Given the description of an element on the screen output the (x, y) to click on. 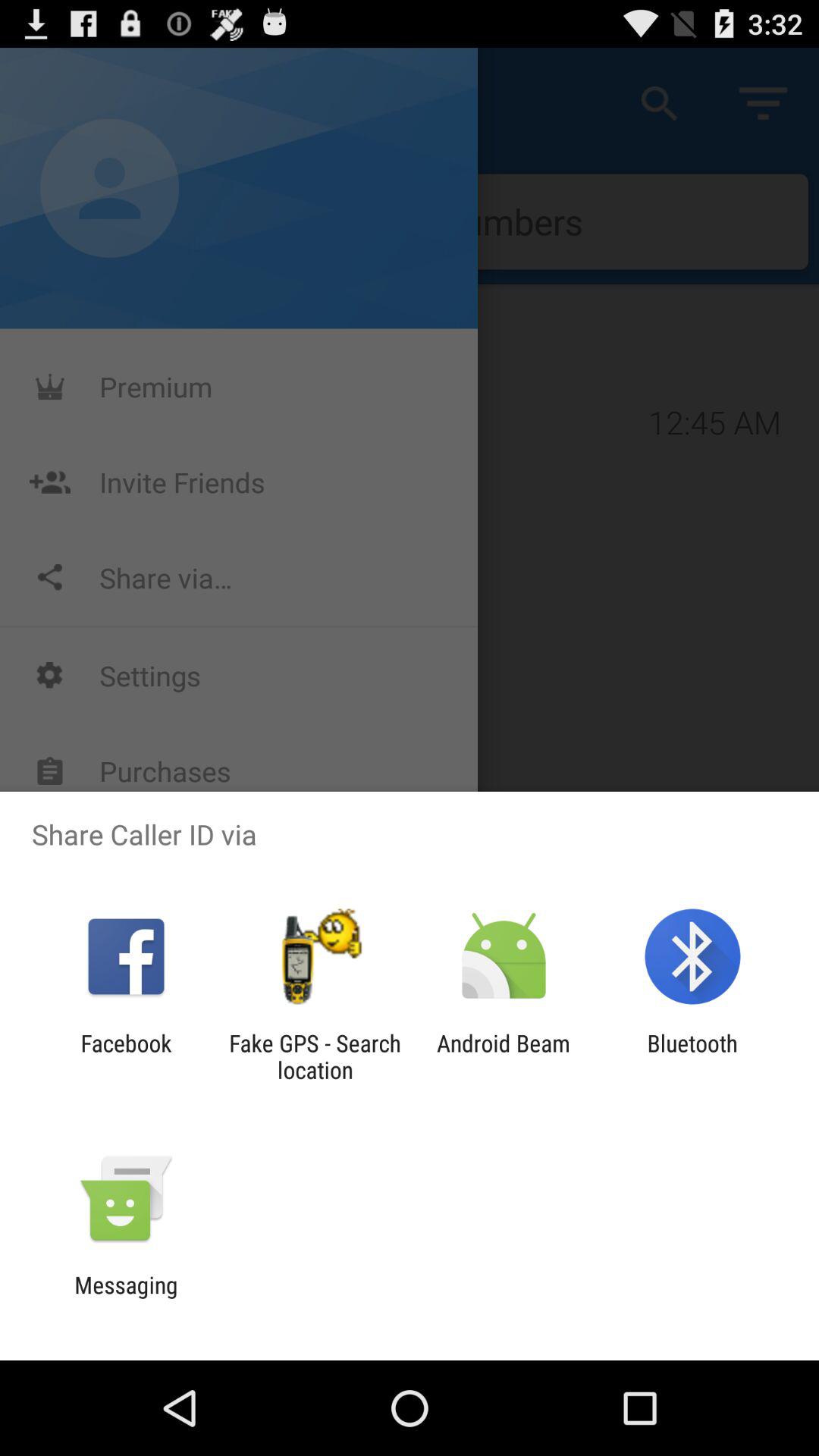
turn on the fake gps search icon (314, 1056)
